Given the description of an element on the screen output the (x, y) to click on. 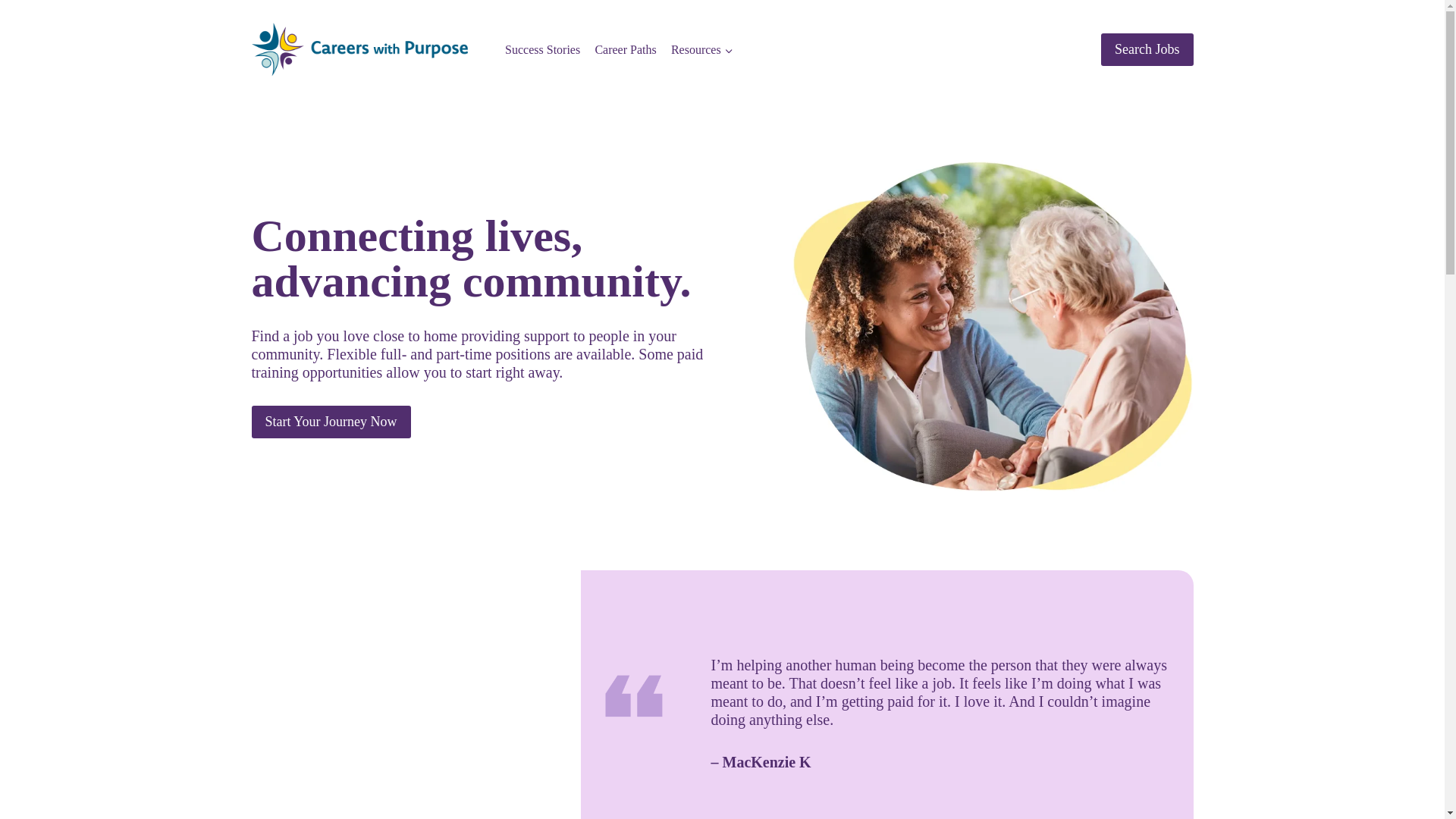
Resources (701, 49)
Search Jobs (1146, 49)
Success Stories (541, 49)
Career Paths (625, 49)
Start Your Journey Now (330, 421)
